Given the description of an element on the screen output the (x, y) to click on. 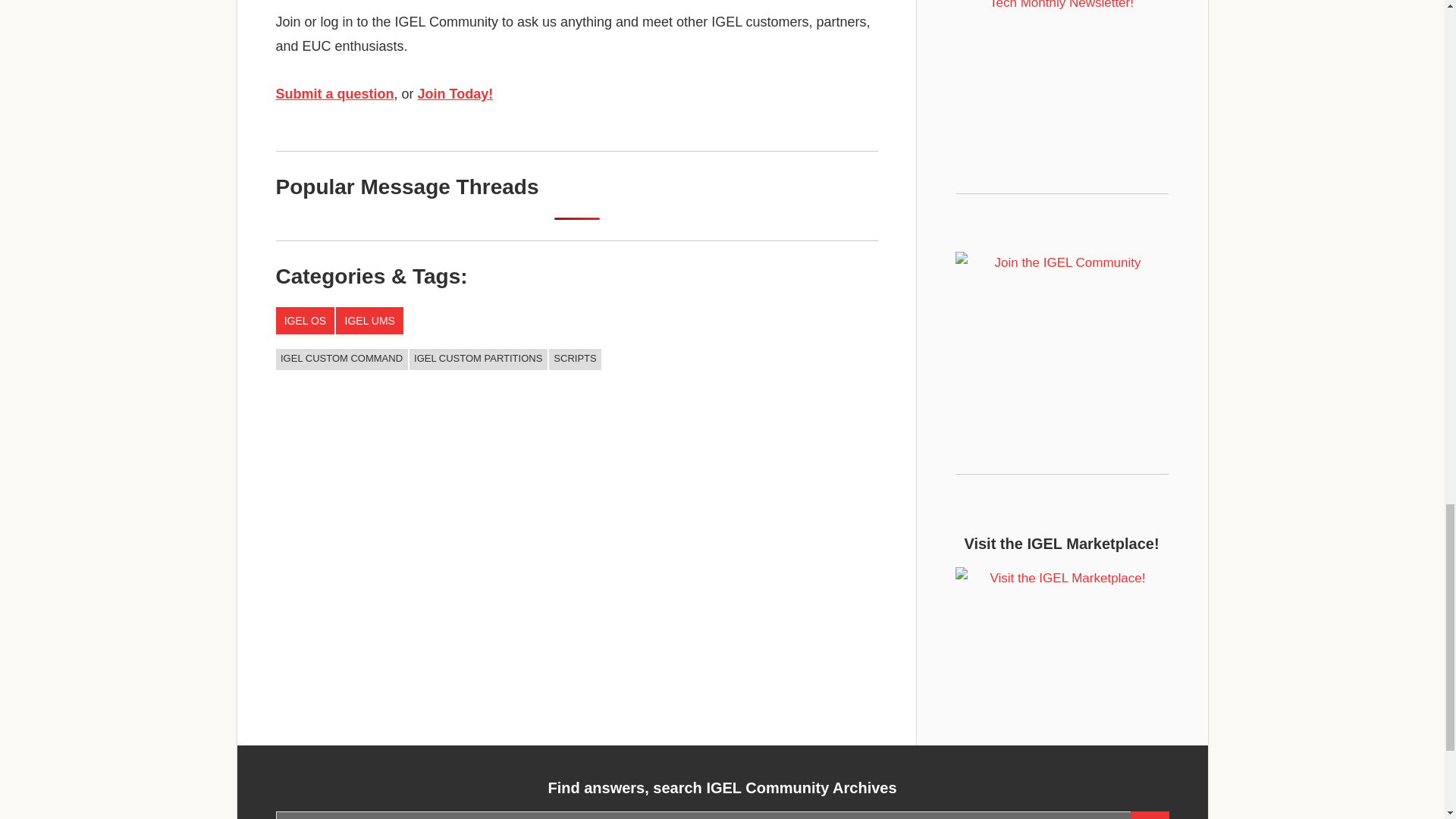
Visit the IGEL Marketplace! (1062, 636)
Subscribe to the Community Tech Monthly Newsletter (1062, 56)
